Given the description of an element on the screen output the (x, y) to click on. 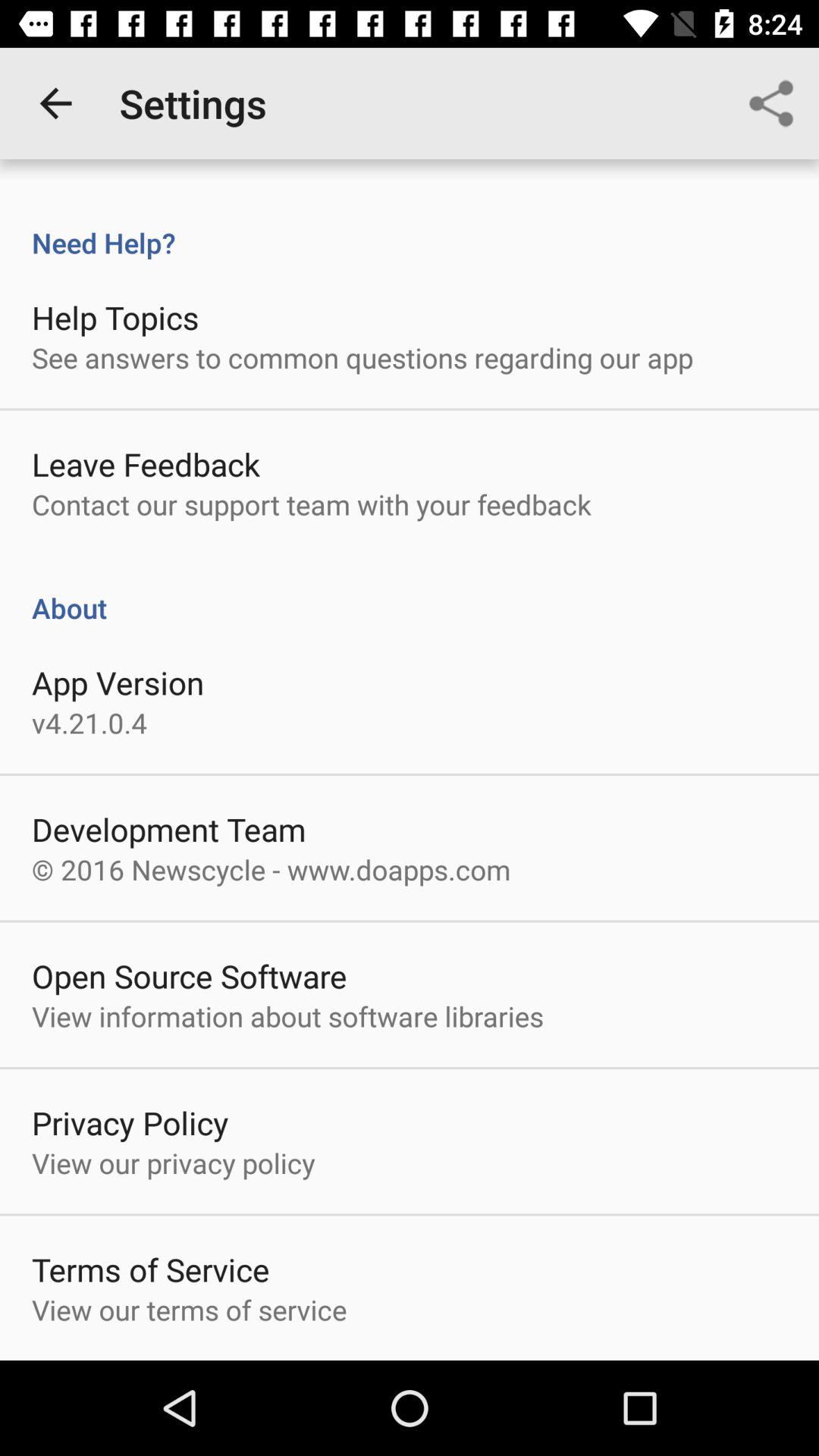
turn off icon next to settings  icon (55, 103)
